Given the description of an element on the screen output the (x, y) to click on. 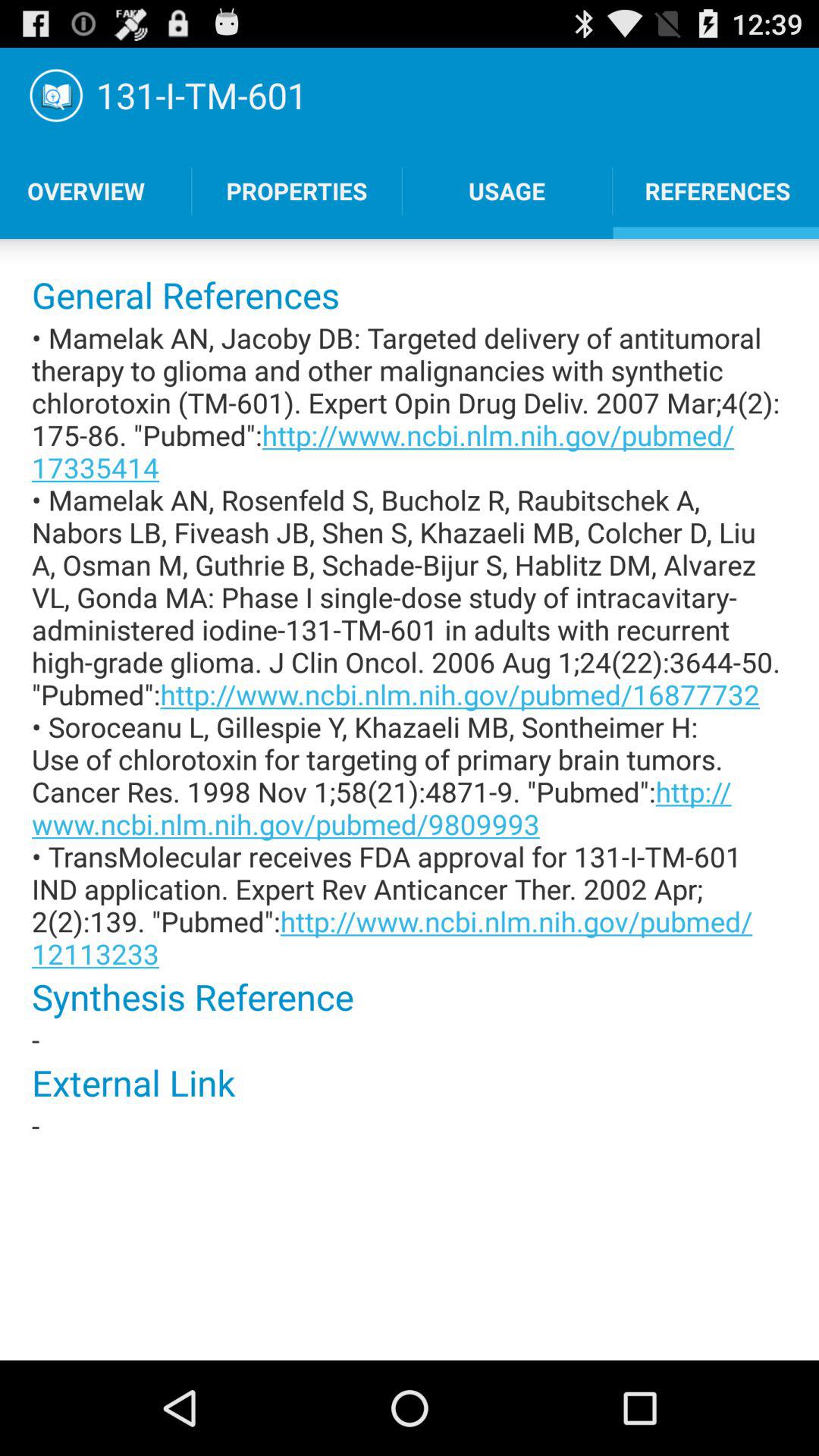
choose - icon (409, 1039)
